Given the description of an element on the screen output the (x, y) to click on. 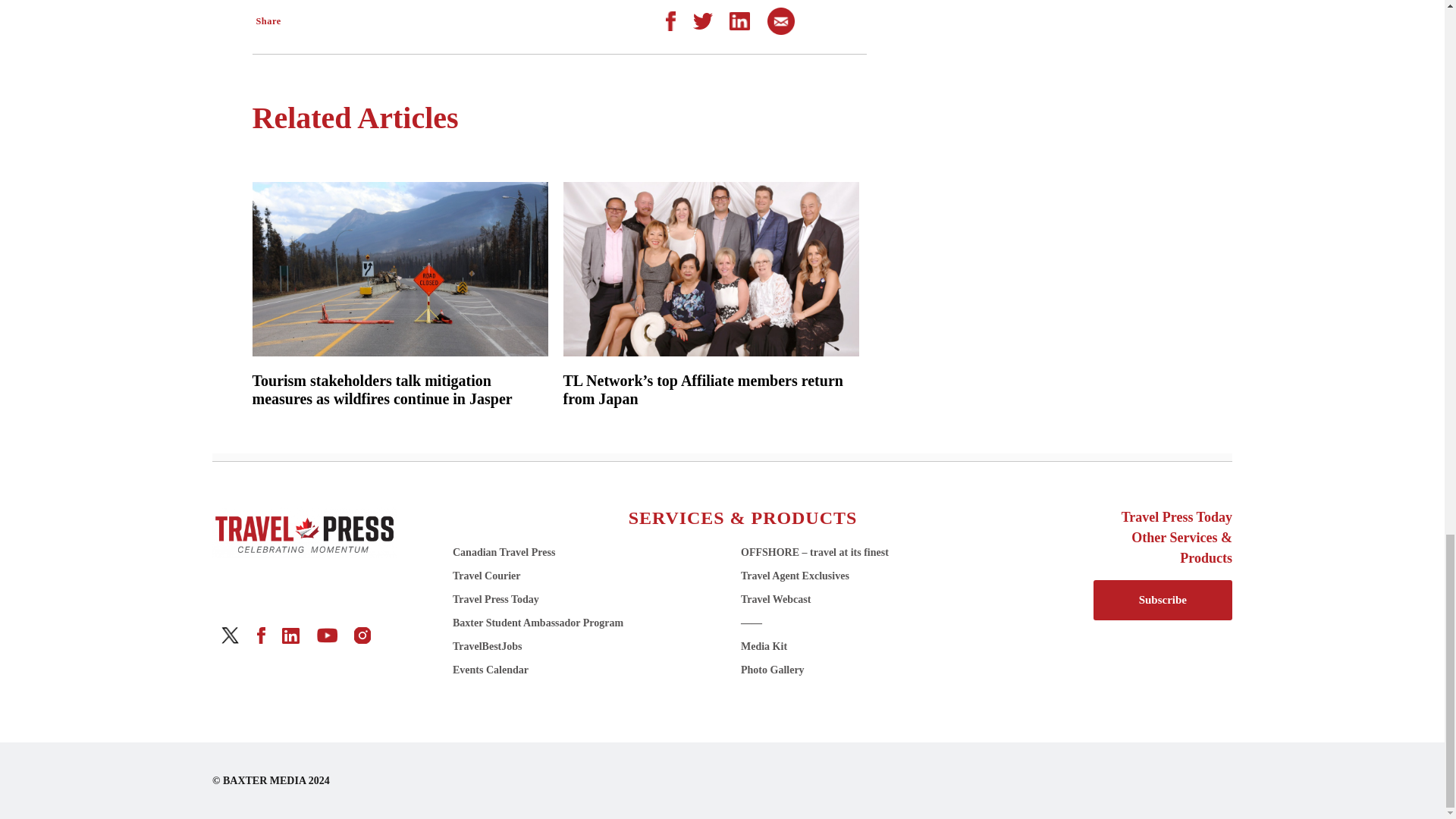
Share by Email (780, 19)
